Given the description of an element on the screen output the (x, y) to click on. 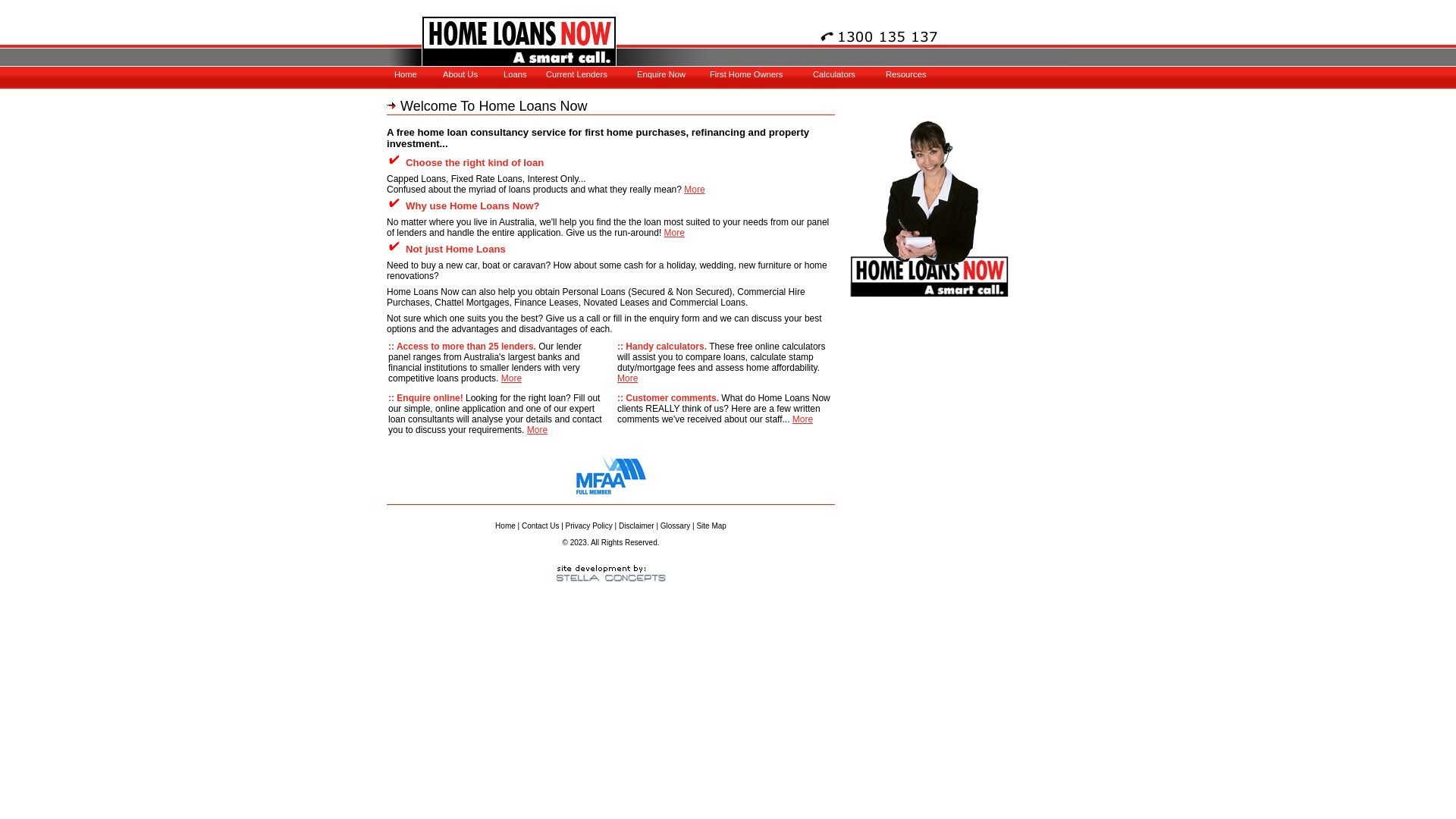
Enquire Now Element type: text (692, 73)
More Element type: text (674, 232)
Home Element type: text (449, 73)
More Element type: text (511, 378)
Site Map Element type: text (710, 525)
Loans Element type: text (558, 73)
More Element type: text (802, 419)
Glossary Element type: text (675, 525)
Calculators Element type: text (867, 73)
Resources Element type: text (940, 73)
Privacy Policy Element type: text (588, 525)
About Us Element type: text (497, 73)
Contact Us Element type: text (539, 525)
More Element type: text (537, 429)
More Element type: text (694, 189)
Disclaimer Element type: text (636, 525)
More Element type: text (627, 378)
First Home Owners Element type: text (764, 73)
Current Lenders Element type: text (601, 73)
Home Element type: text (505, 525)
